Given the description of an element on the screen output the (x, y) to click on. 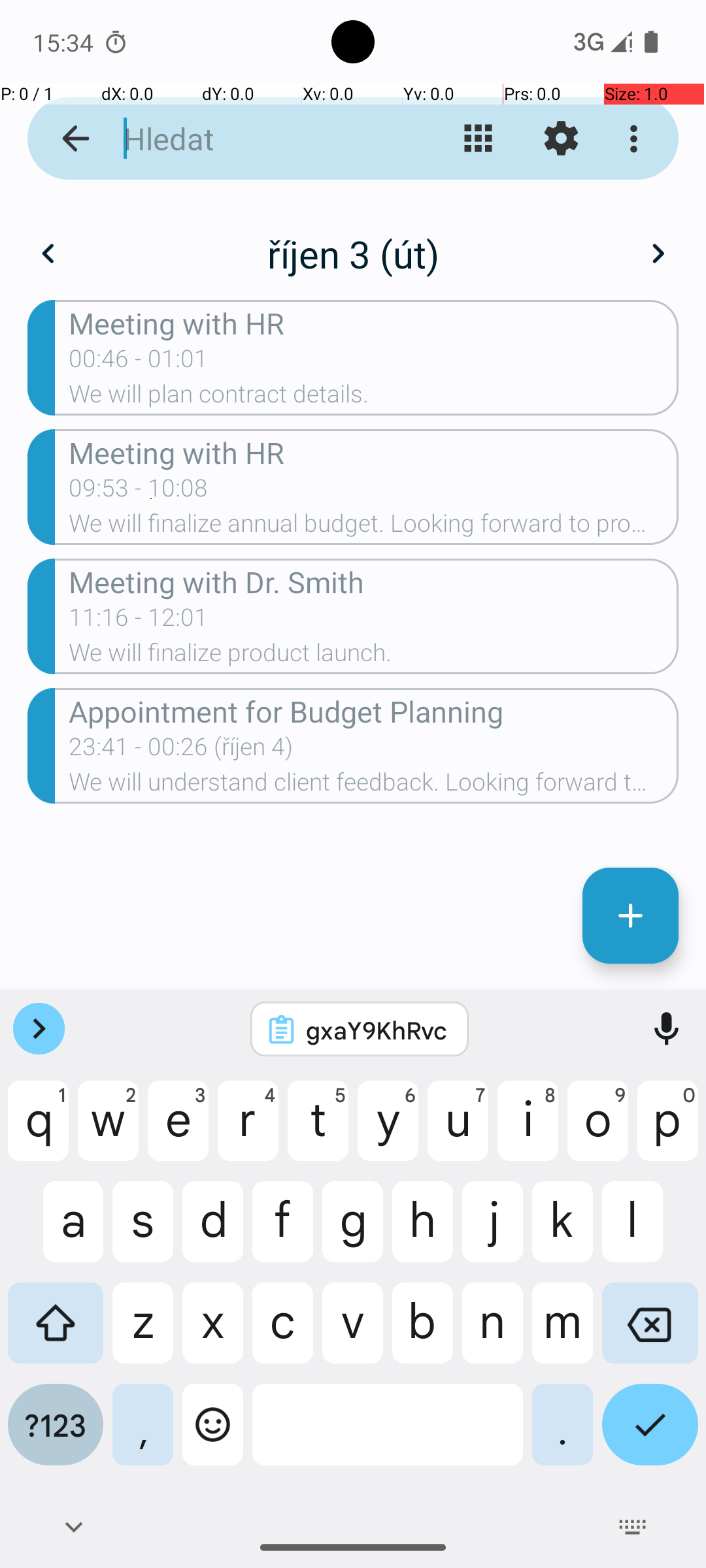
říjen 3 (út) Element type: android.widget.TextView (352, 253)
00:46 - 01:01 Element type: android.widget.TextView (137, 362)
We will plan contract details. Element type: android.widget.TextView (373, 397)
09:53 - 10:08 Element type: android.widget.TextView (137, 491)
We will finalize annual budget. Looking forward to productive discussions. Element type: android.widget.TextView (373, 526)
11:16 - 12:01 Element type: android.widget.TextView (137, 620)
We will finalize product launch. Element type: android.widget.TextView (373, 656)
23:41 - 00:26 (říjen 4) Element type: android.widget.TextView (180, 750)
We will understand client feedback. Looking forward to productive discussions. Element type: android.widget.TextView (373, 785)
gxaY9KhRvc Element type: android.widget.TextView (376, 1029)
